Given the description of an element on the screen output the (x, y) to click on. 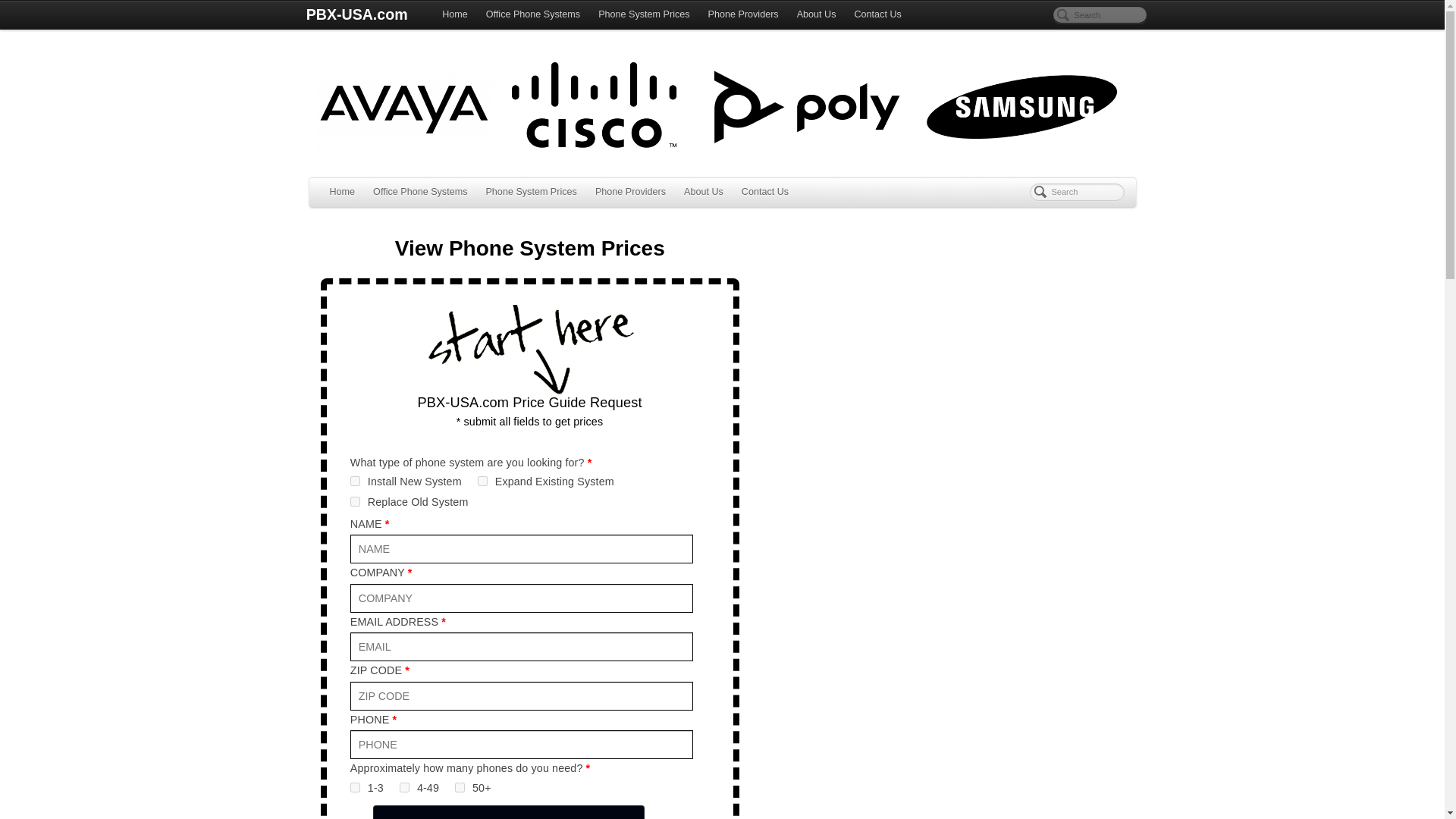
Office Phone Systems (420, 192)
Contact Us (877, 14)
Office Phone Systems (533, 14)
Home (454, 14)
Phone Providers (630, 192)
Home (342, 192)
About Us (703, 192)
Phone System Prices (643, 14)
PBX-USA.com (355, 14)
PBX-USA.com (355, 14)
